Given the description of an element on the screen output the (x, y) to click on. 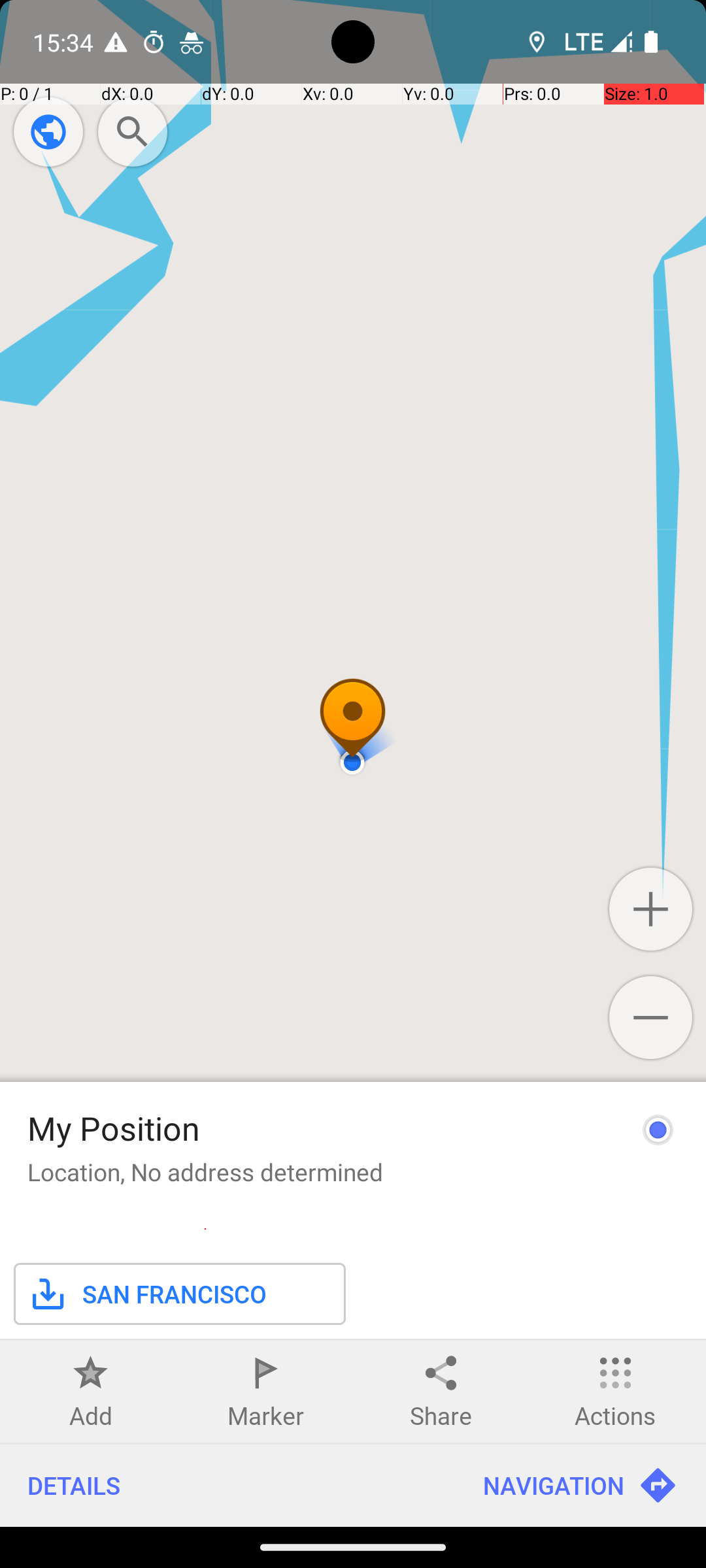
My Position Element type: android.widget.TextView (113, 1127)
Location, No address determined Element type: android.widget.TextView (205, 1171)
DETAILS Element type: android.widget.TextView (227, 1485)
NAVIGATION Element type: android.widget.TextView (580, 1485)
Add Element type: android.widget.TextView (90, 1415)
Marker Element type: android.widget.TextView (265, 1415)
SAN FRANCISCO Element type: android.widget.TextView (146, 1293)
